Given the description of an element on the screen output the (x, y) to click on. 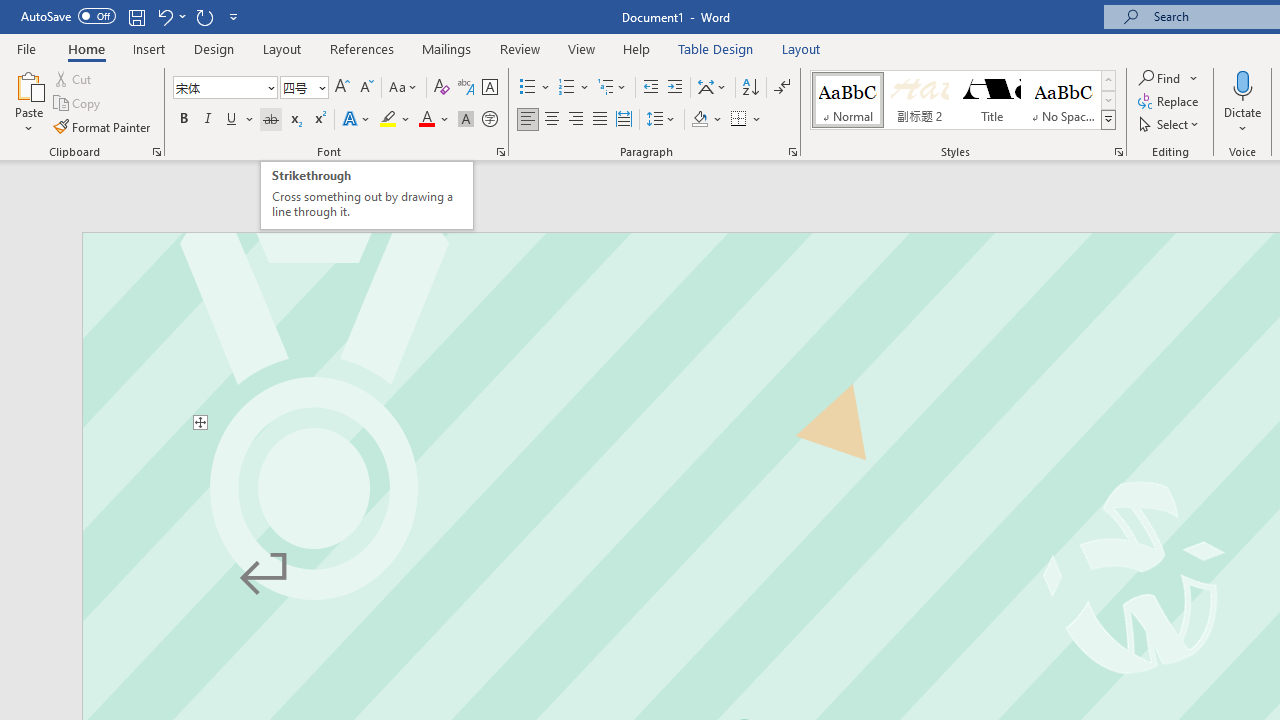
Undo Text Fill Effect (164, 15)
Font Color Red (426, 119)
